Given the description of an element on the screen output the (x, y) to click on. 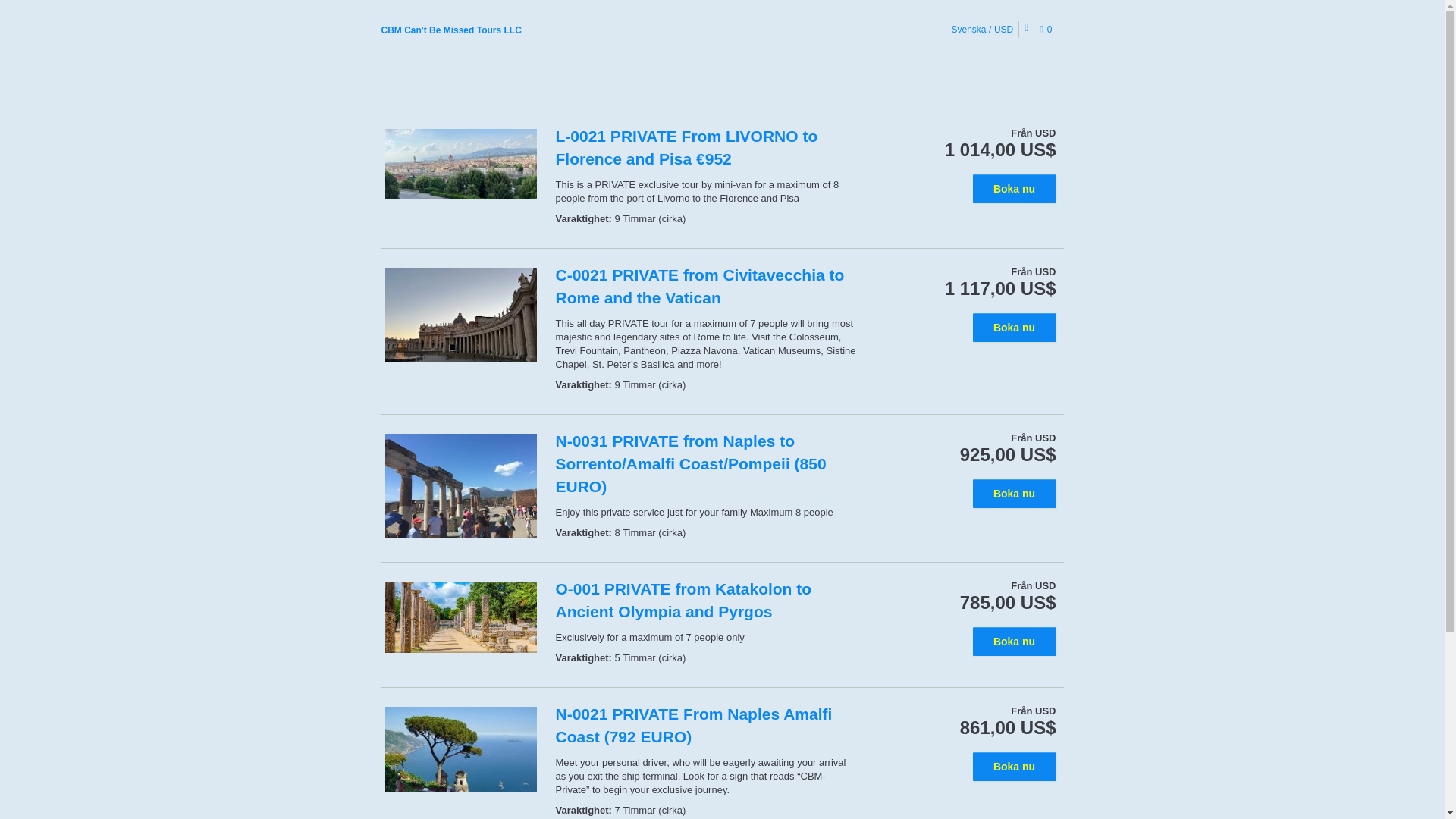
Estimated conversion from 861 (1008, 728)
Svenska USD (983, 29)
Estimated conversion from 925 (1008, 454)
0 (1047, 30)
Estimated conversion from 1014 (1000, 149)
CBM Can't Be Missed Tours LLC (450, 30)
Estimated conversion from 1117 (1000, 289)
Estimated conversion from 785 (1008, 602)
